Given the description of an element on the screen output the (x, y) to click on. 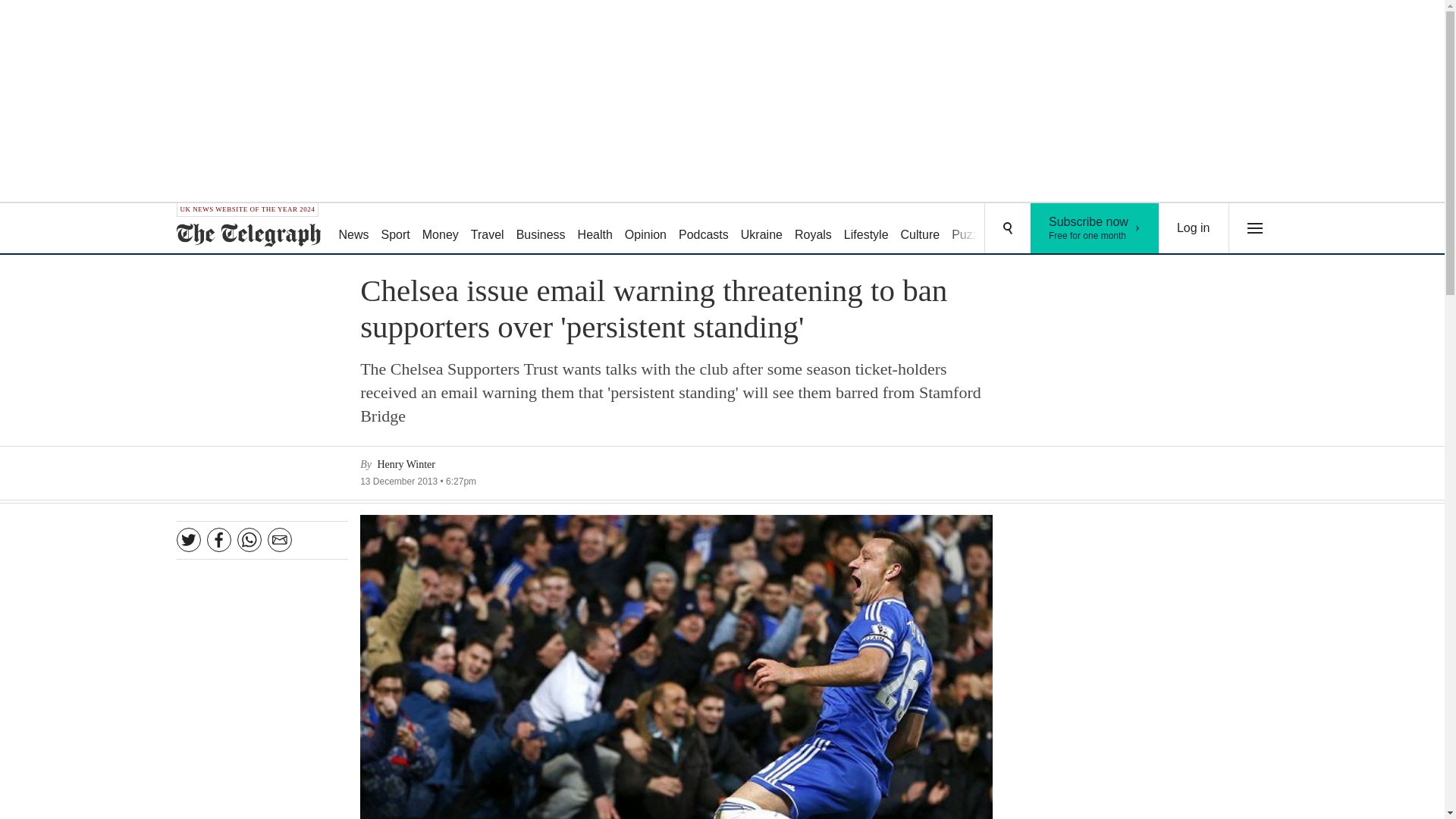
Log in (1193, 228)
Culture (920, 228)
Puzzles (1094, 228)
Lifestyle (972, 228)
Opinion (866, 228)
Business (645, 228)
Travel (541, 228)
Health (487, 228)
Podcasts (595, 228)
Royals (703, 228)
Money (813, 228)
Ukraine (440, 228)
